Given the description of an element on the screen output the (x, y) to click on. 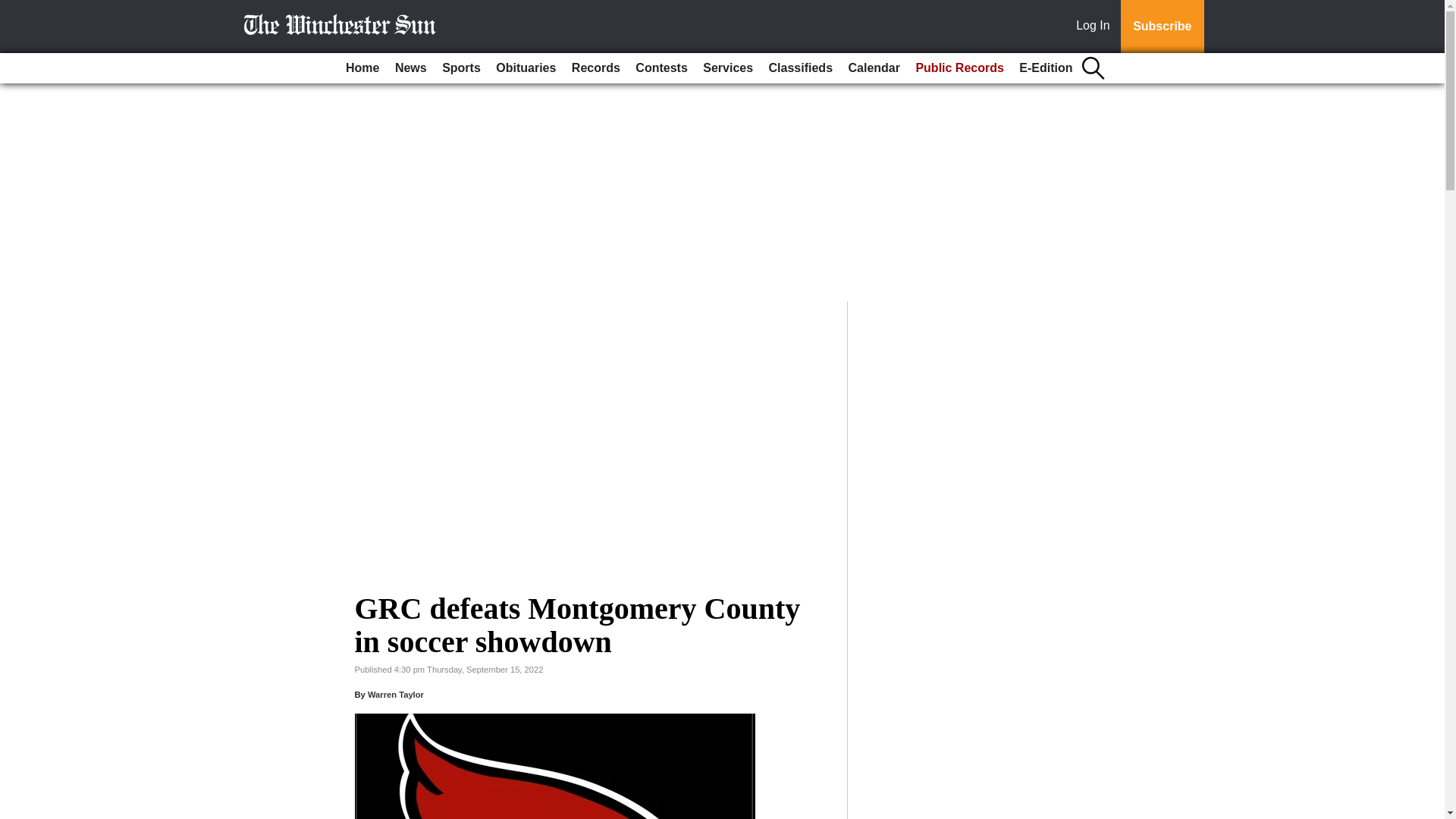
Classifieds (800, 68)
Sports (460, 68)
Subscribe (1162, 26)
Services (727, 68)
Home (362, 68)
Warren Taylor (395, 694)
Calendar (873, 68)
Go (13, 9)
Obituaries (525, 68)
Records (596, 68)
Log In (1095, 26)
News (410, 68)
Public Records (958, 68)
Contests (660, 68)
E-Edition (1045, 68)
